Given the description of an element on the screen output the (x, y) to click on. 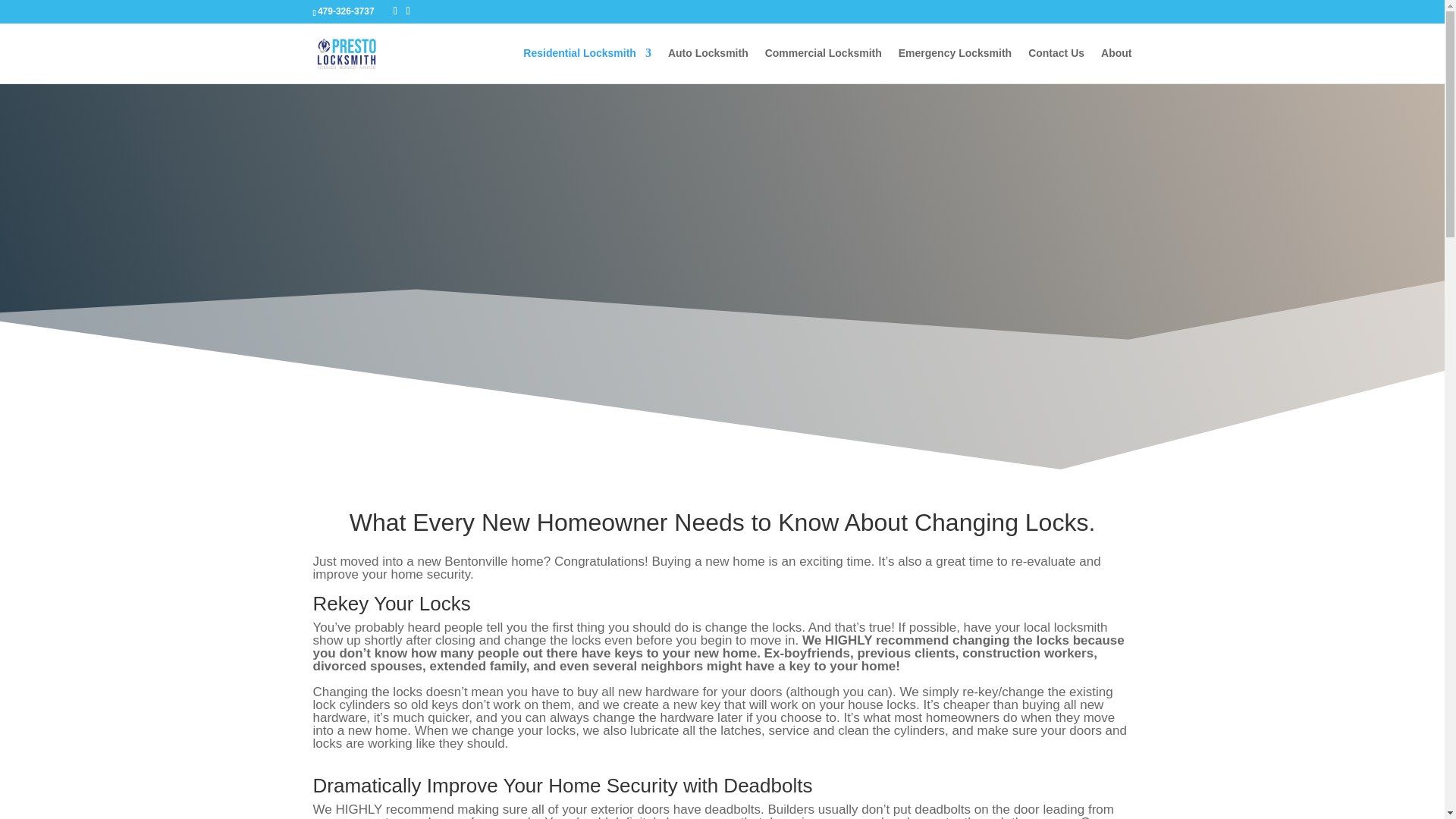
479-326-3737 (345, 10)
Commercial Locksmith (823, 65)
Auto Locksmith (708, 65)
Emergency Locksmith (954, 65)
Residential Locksmith (586, 65)
Contact Us (1055, 65)
